Given the description of an element on the screen output the (x, y) to click on. 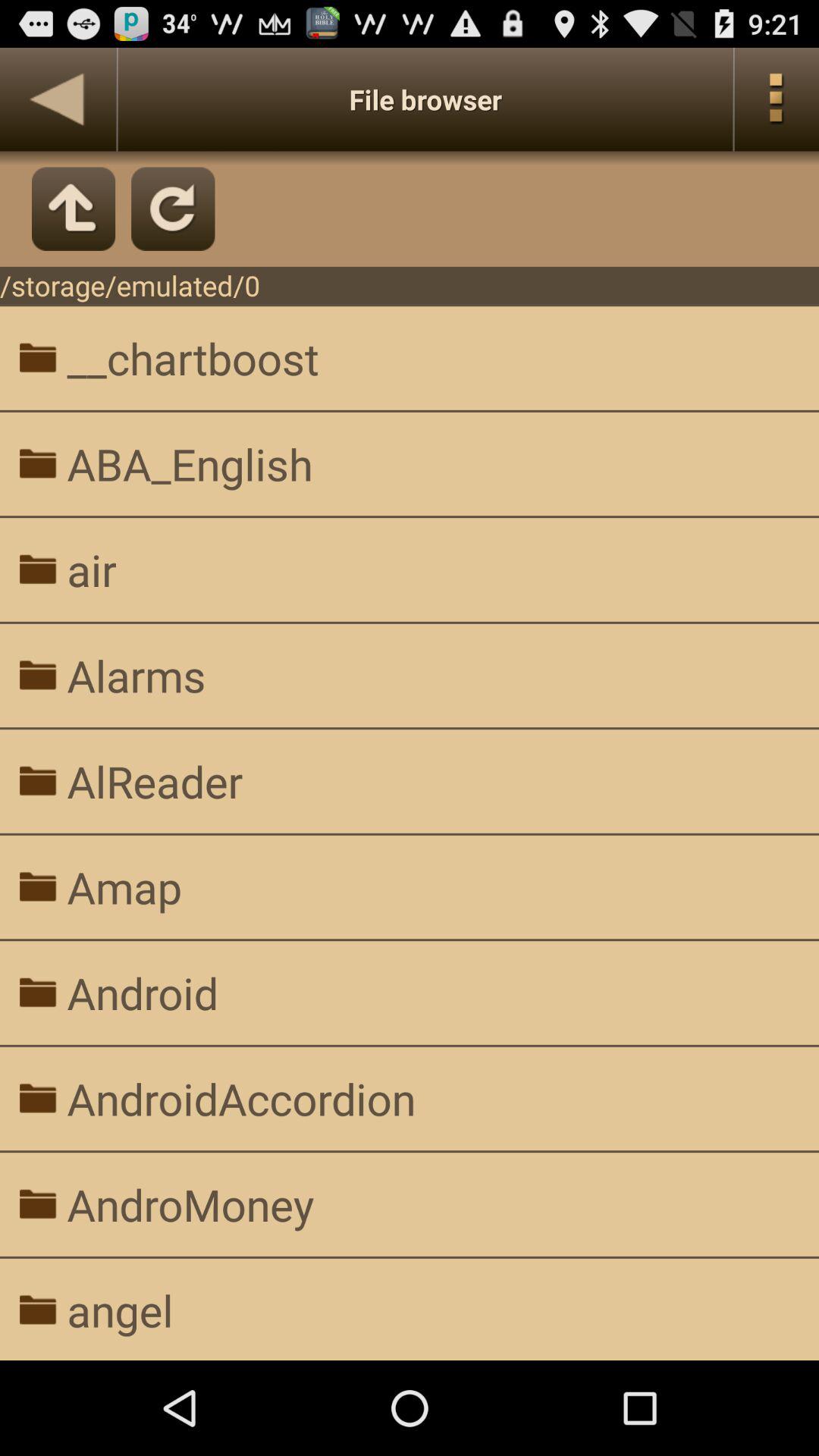
for more options (776, 99)
